Given the description of an element on the screen output the (x, y) to click on. 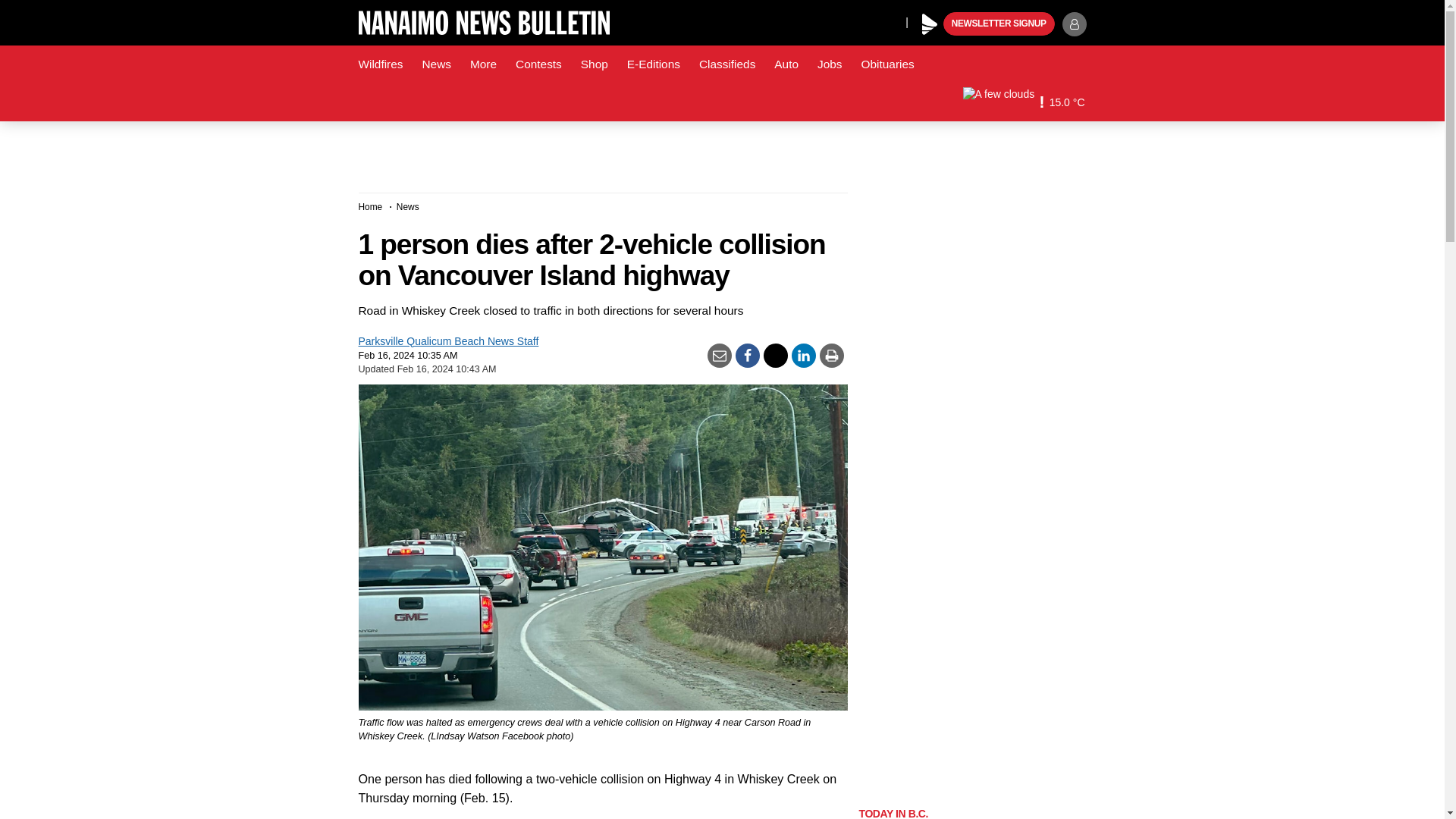
Black Press Media (929, 24)
X (889, 21)
NEWSLETTER SIGNUP (998, 24)
Wildfires (380, 64)
Play (929, 24)
News (435, 64)
